Given the description of an element on the screen output the (x, y) to click on. 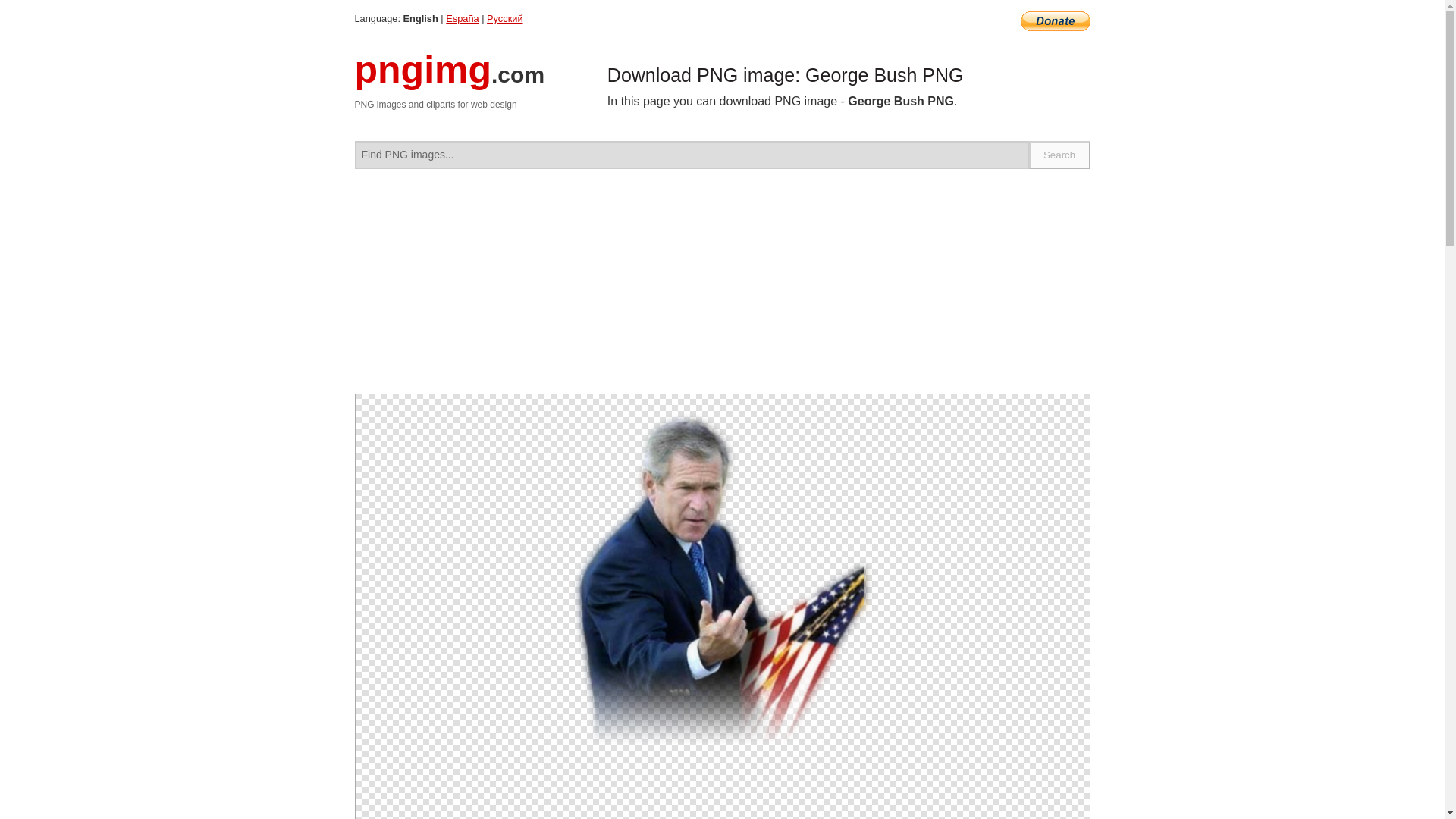
George Bush PNG (721, 577)
Search (1059, 154)
Search (1059, 154)
pngimg.com (449, 78)
